Given the description of an element on the screen output the (x, y) to click on. 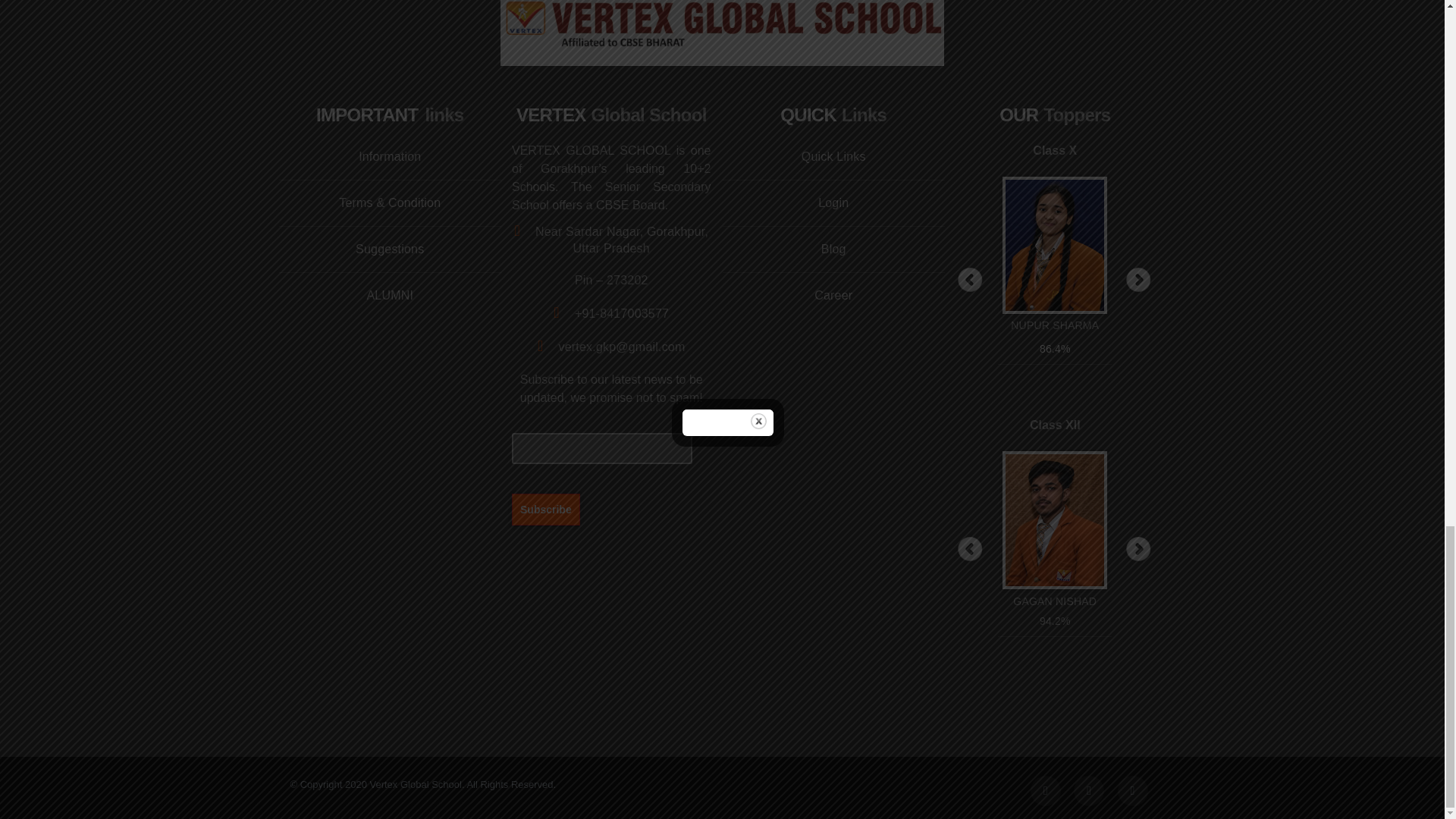
Subscribe (545, 508)
